Given the description of an element on the screen output the (x, y) to click on. 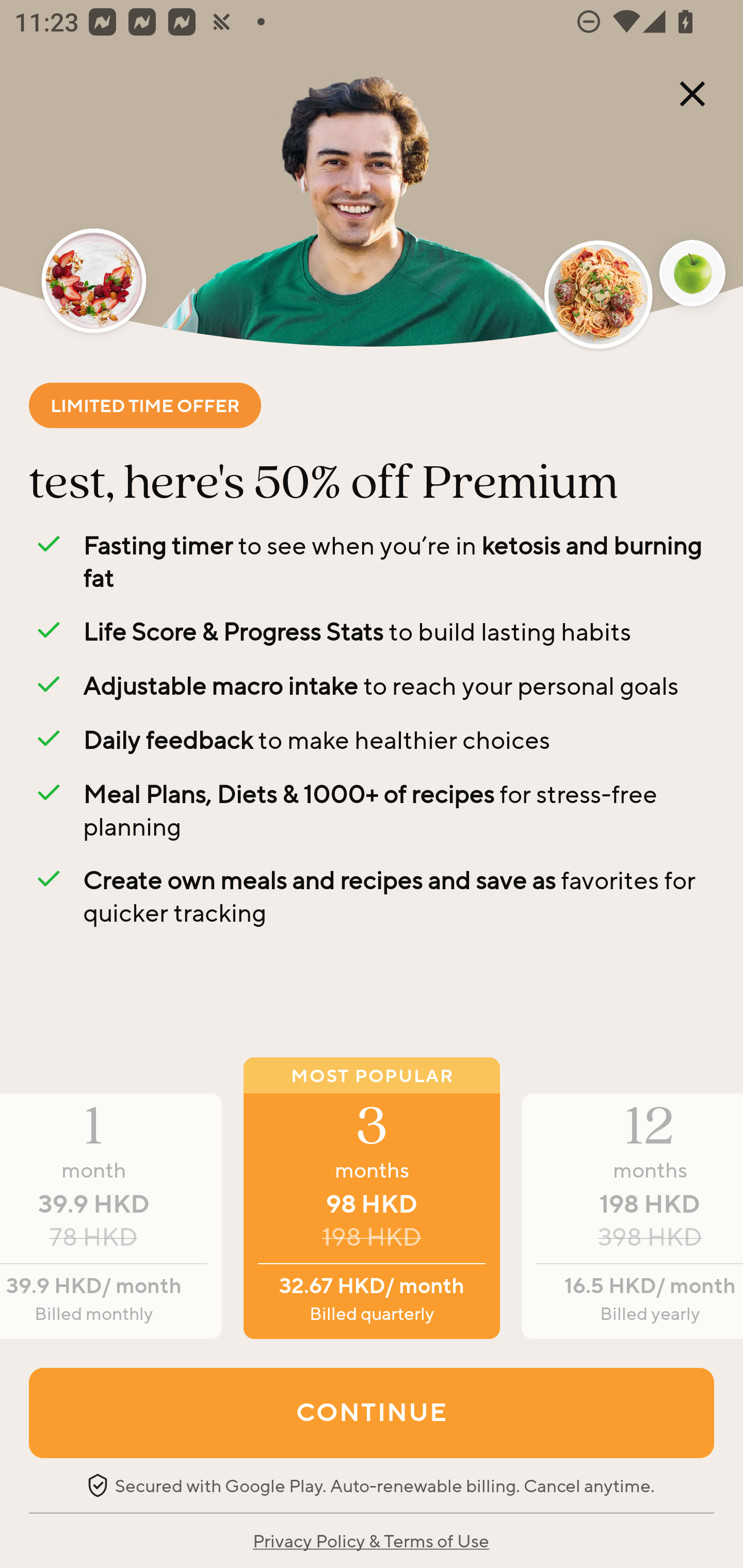
CONTINUE (371, 1412)
Privacy Policy & Terms of Use (370, 1540)
